Given the description of an element on the screen output the (x, y) to click on. 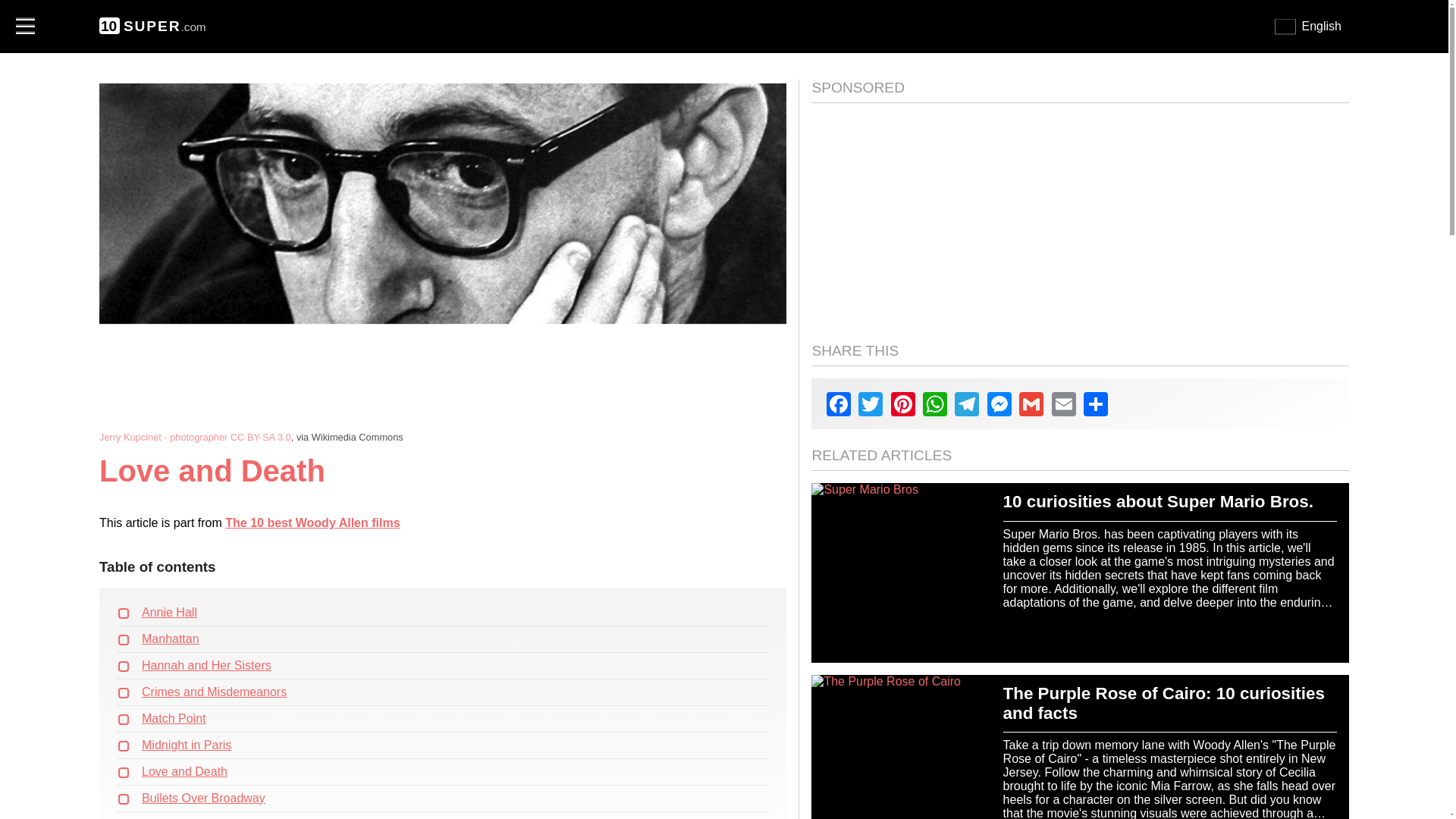
Bullets Over Broadway (202, 797)
Annie Hall (168, 612)
CC BY-SA 3.0 (260, 437)
Crimes and Misdemeanors (213, 691)
Jerry Kupcinet - photographer (163, 437)
Manhattan (170, 638)
WhatsApp (935, 404)
Pinterest (903, 404)
Love and Death (184, 771)
The 10 best Woody Allen films (311, 522)
